Given the description of an element on the screen output the (x, y) to click on. 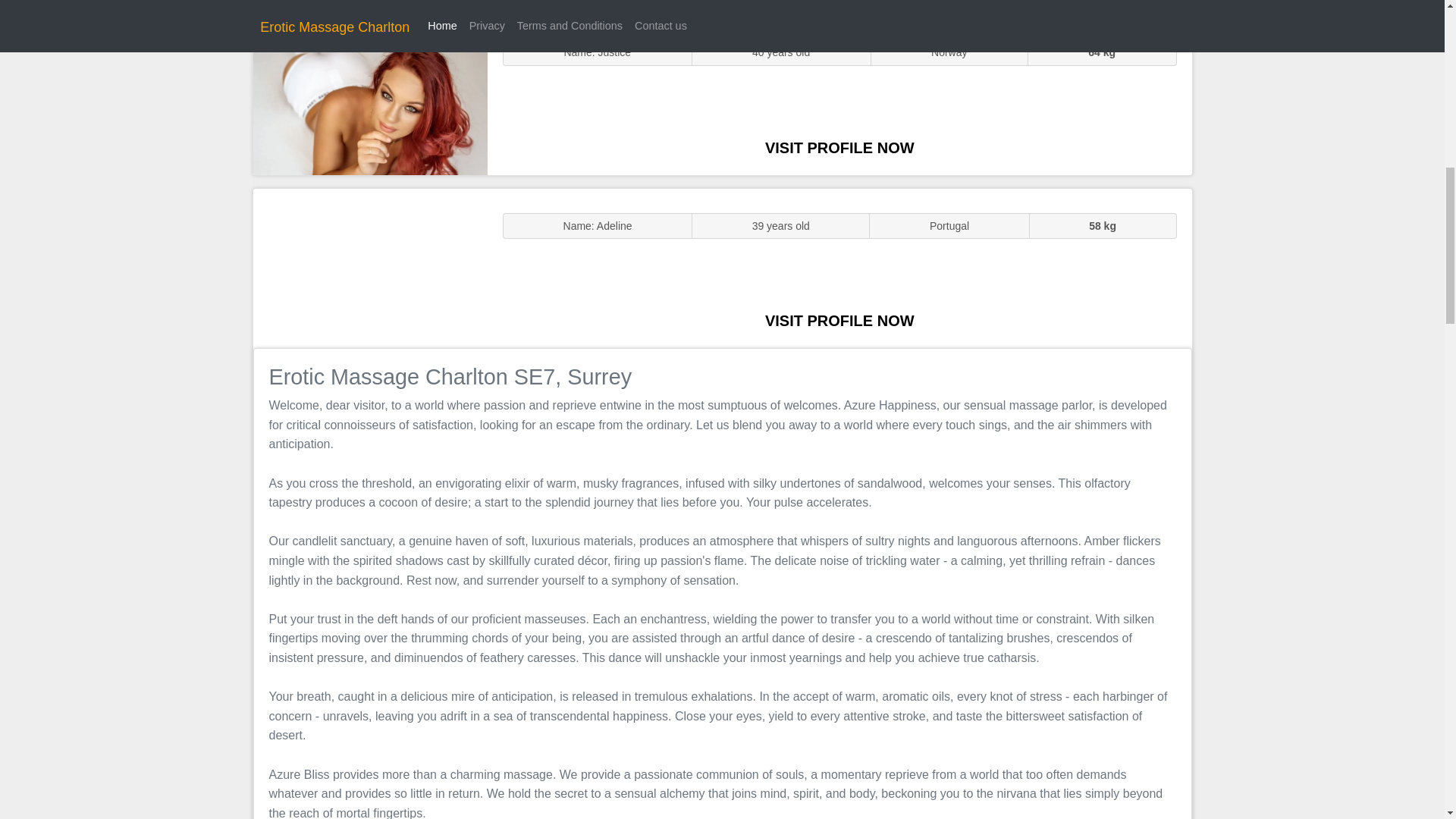
Sluts (370, 94)
Massage (370, 267)
VISIT PROFILE NOW (839, 147)
VISIT PROFILE NOW (839, 320)
